Given the description of an element on the screen output the (x, y) to click on. 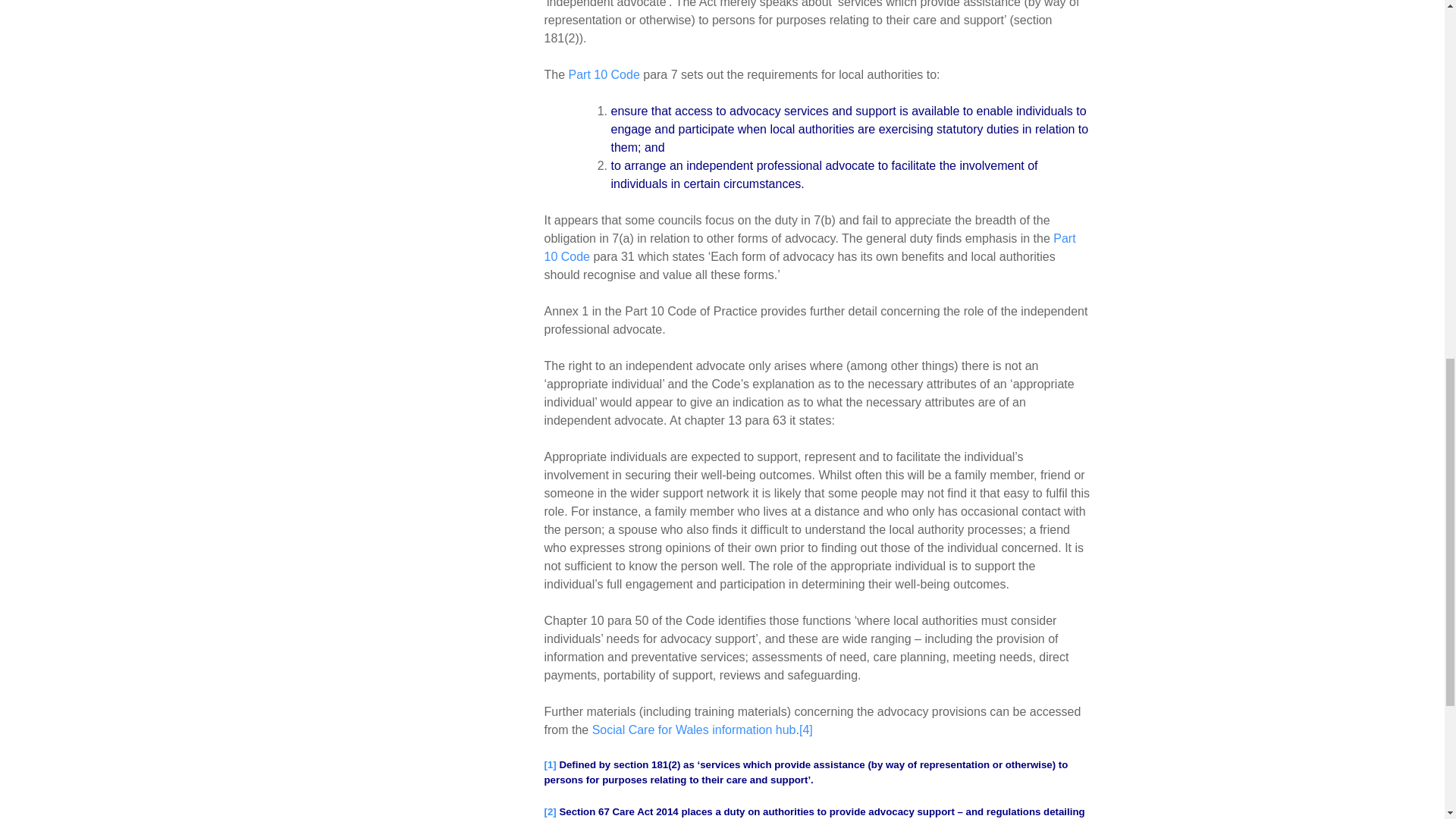
Social Care for Wales information hub (694, 729)
Part 10 Code (604, 74)
Part 10 Code (809, 246)
